Given the description of an element on the screen output the (x, y) to click on. 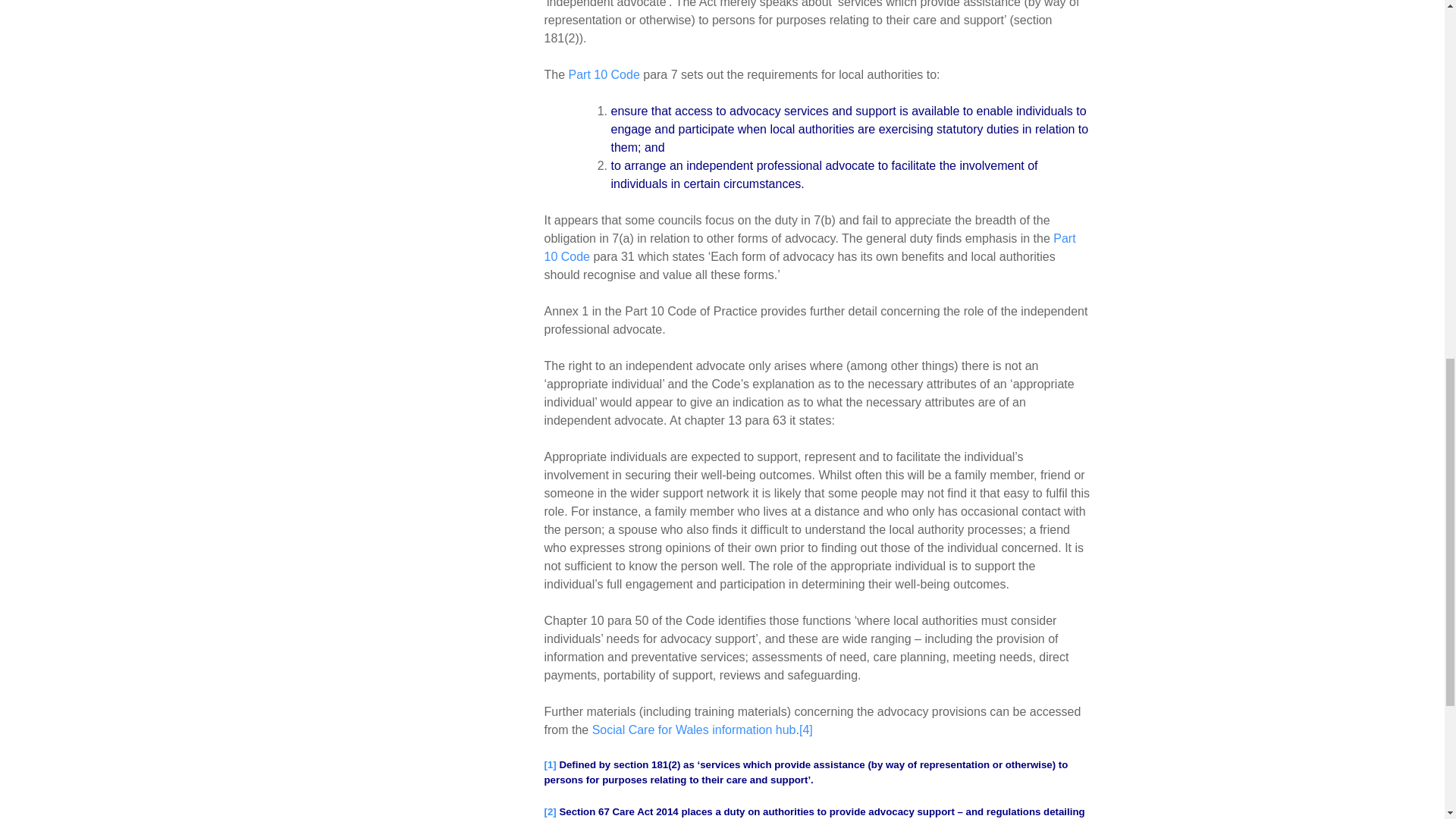
Social Care for Wales information hub (694, 729)
Part 10 Code (604, 74)
Part 10 Code (809, 246)
